Given the description of an element on the screen output the (x, y) to click on. 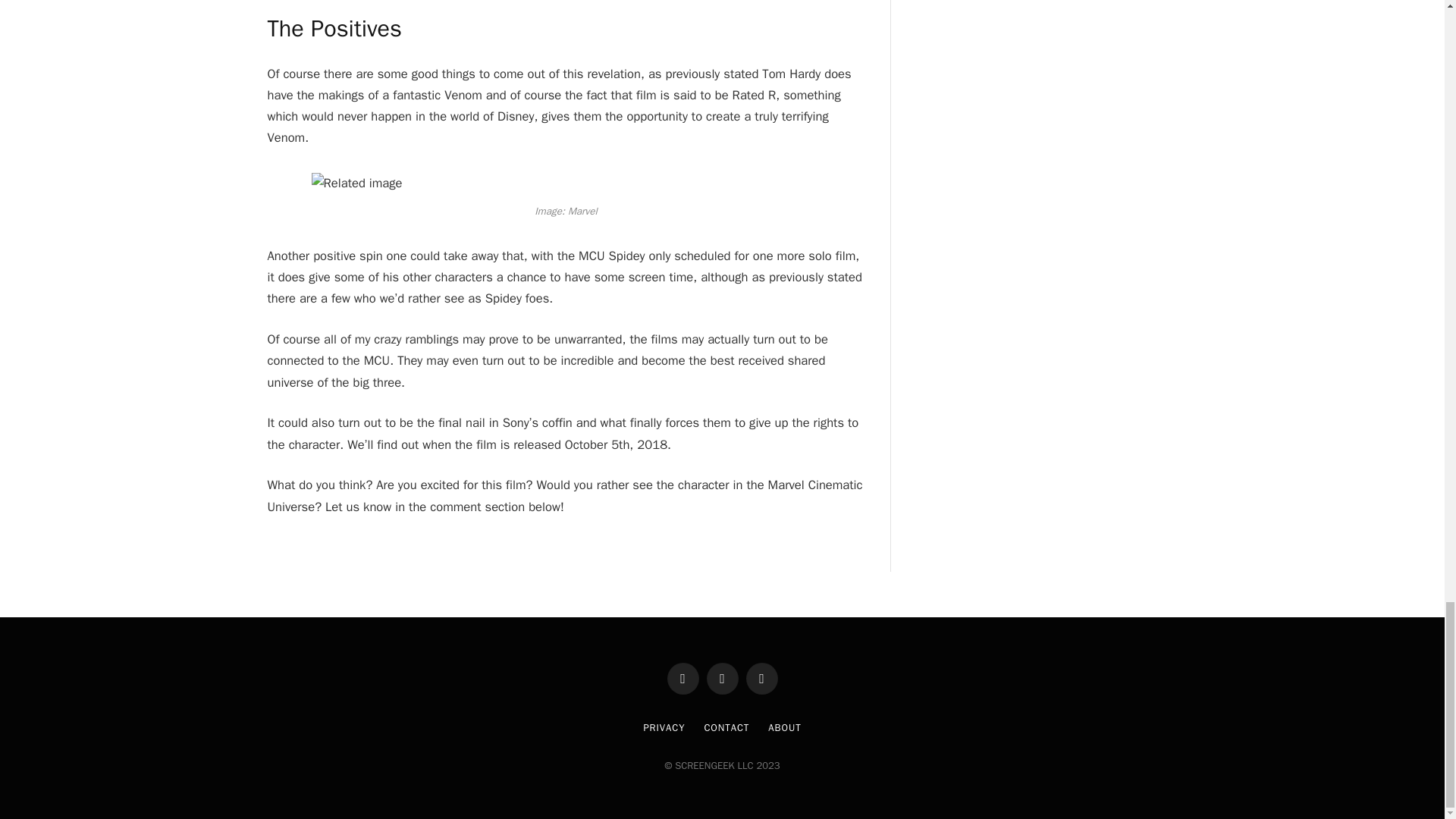
Facebook (682, 677)
CONTACT (726, 727)
ABOUT (784, 727)
PRIVACY (663, 727)
Instagram (761, 677)
